Given the description of an element on the screen output the (x, y) to click on. 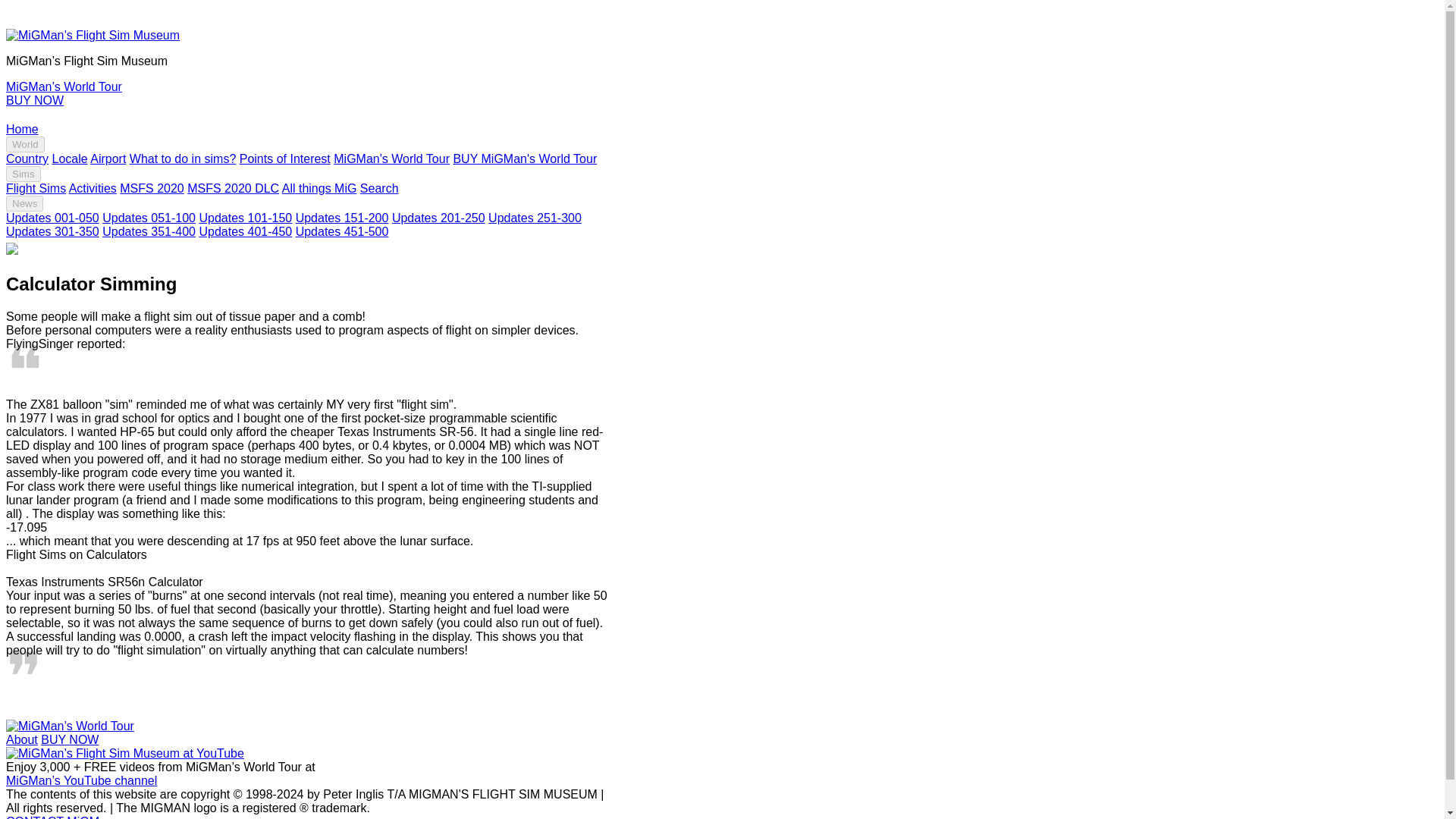
Search (378, 187)
Activities (92, 187)
All things MiG (319, 187)
Updates 451-500 (341, 231)
Locale (68, 158)
Updates 101-150 (245, 217)
BUY NOW (69, 739)
BUY NOW (34, 100)
Updates 001-050 (52, 217)
Updates 251-300 (533, 217)
